Given the description of an element on the screen output the (x, y) to click on. 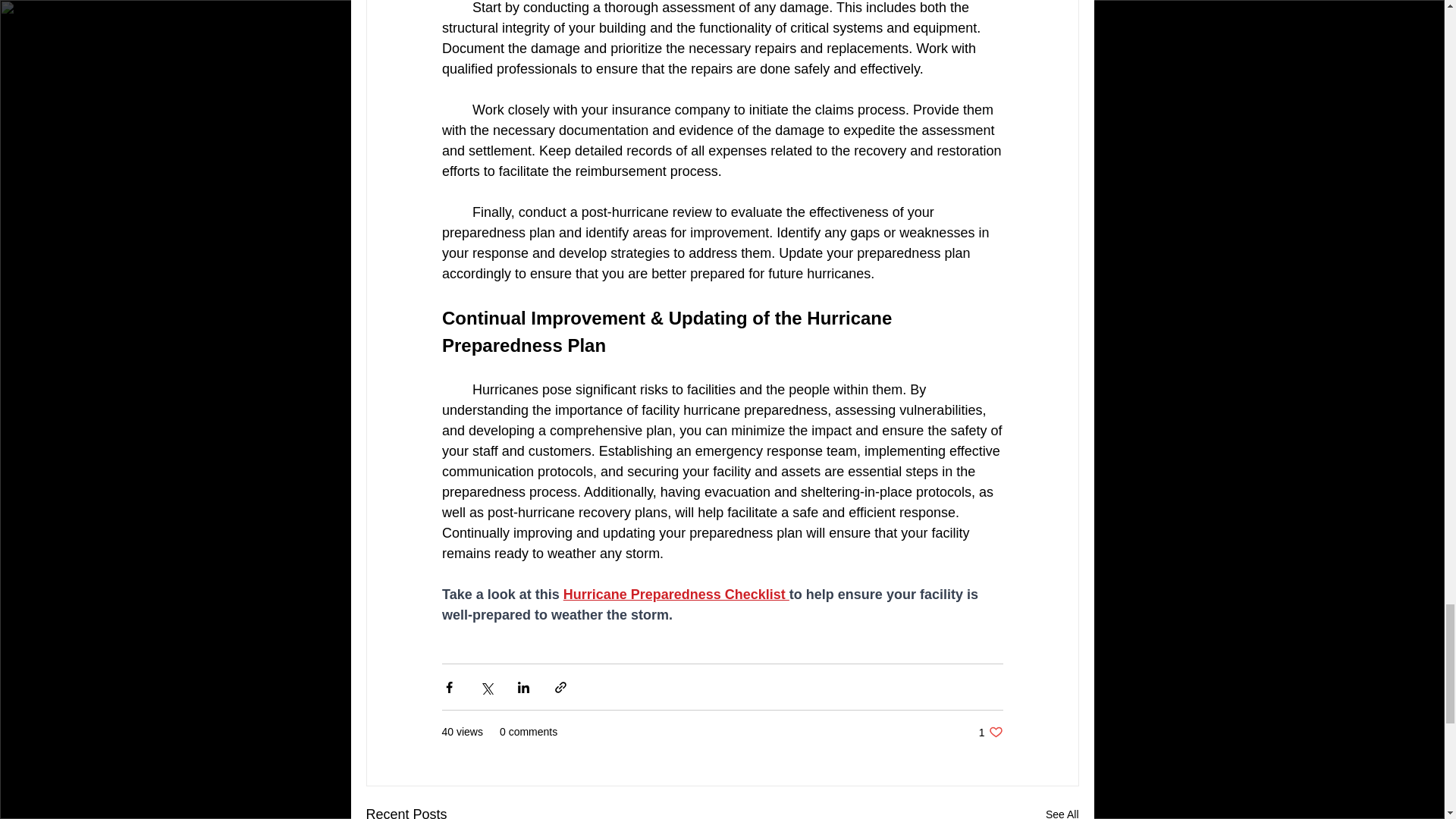
Hurricane Preparedness Checklist  (675, 594)
See All (990, 731)
